Given the description of an element on the screen output the (x, y) to click on. 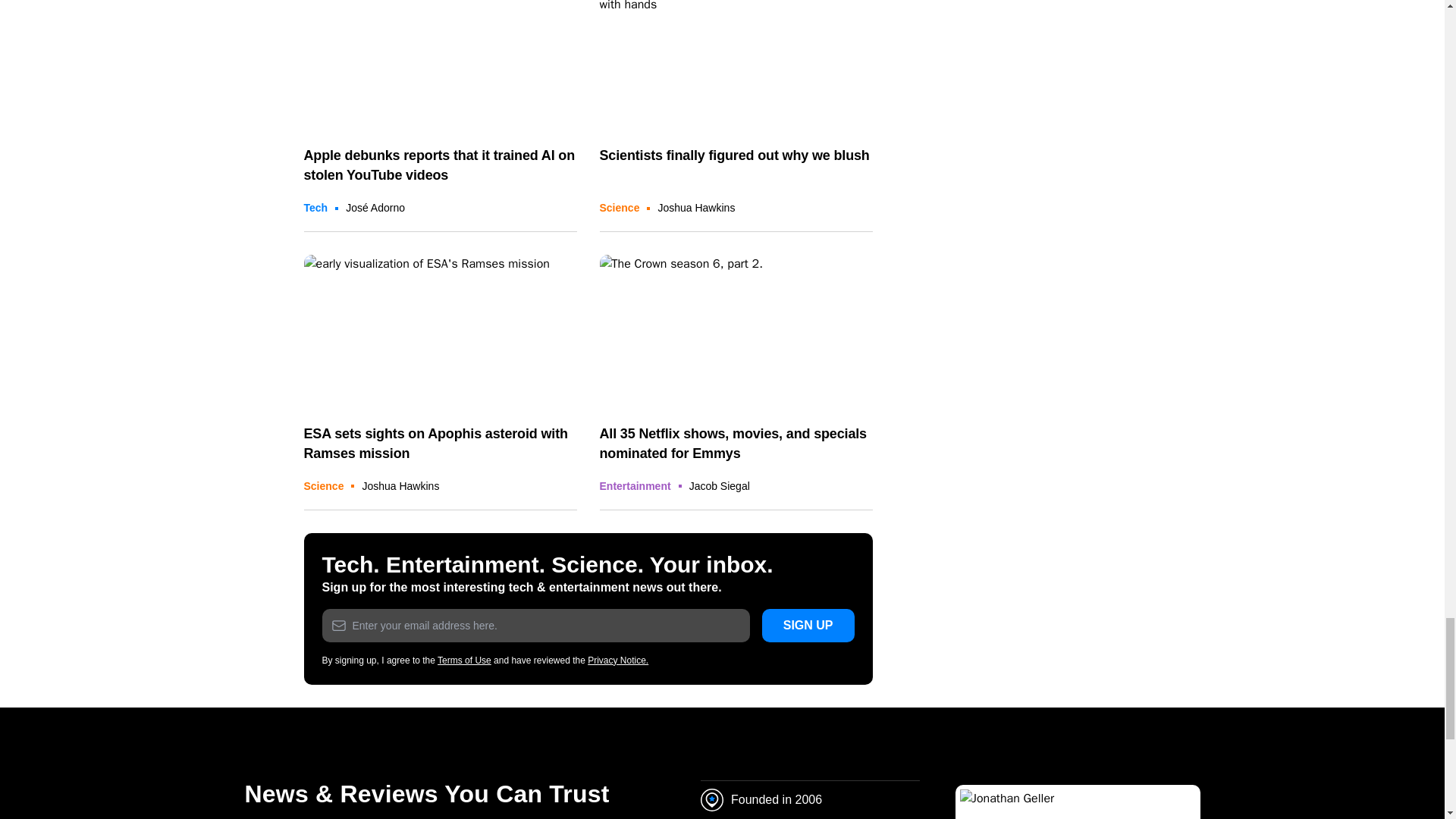
why we blush (735, 65)
Posts by Joshua Hawkins (400, 485)
Ramses mission (439, 331)
Posts by Jacob Siegal (718, 485)
Posts by Joshua Hawkins (696, 207)
Netflix Emmys (735, 331)
